Given the description of an element on the screen output the (x, y) to click on. 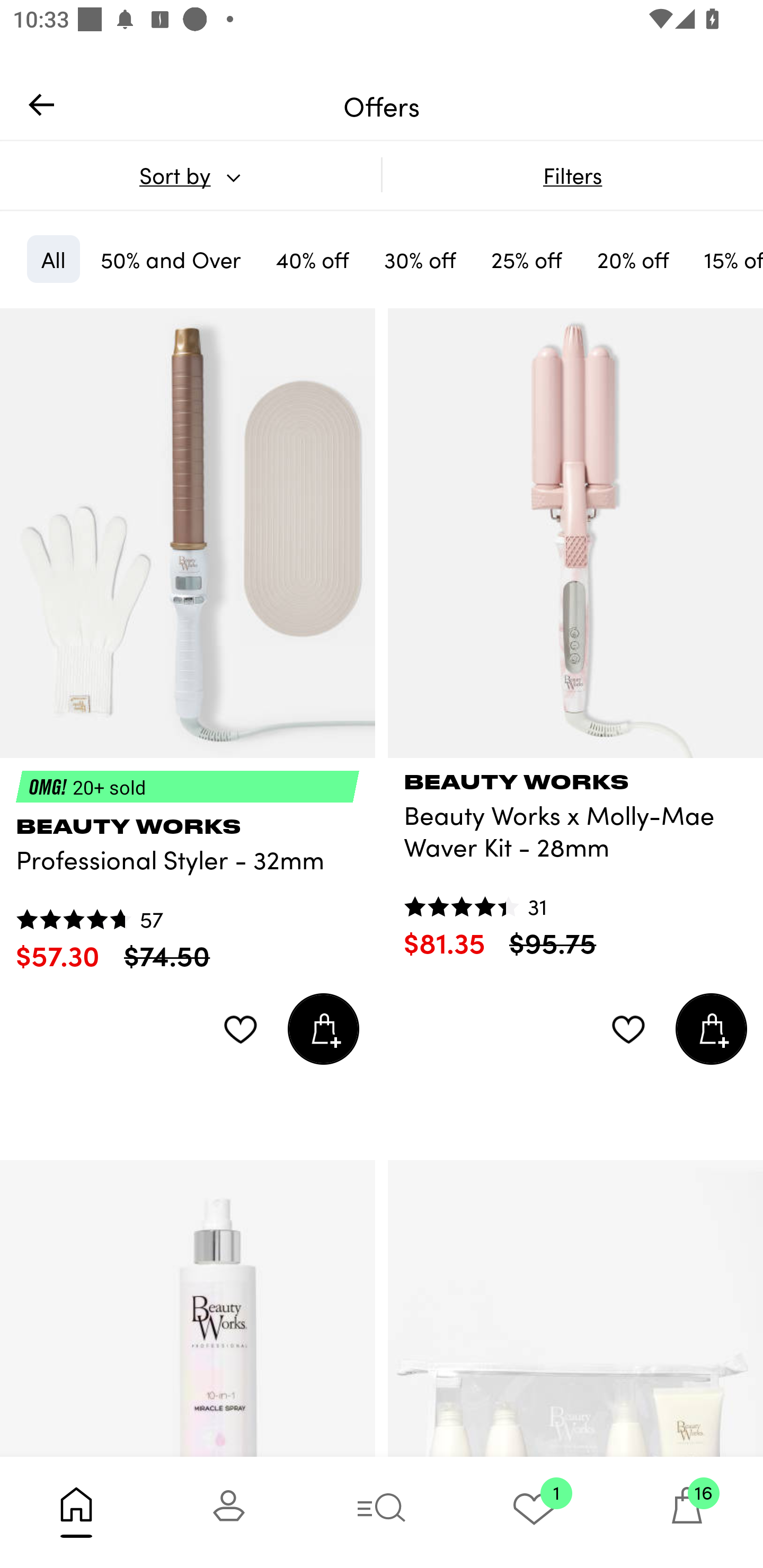
Sort by (190, 174)
Filters (572, 174)
All (53, 258)
50% and Over (170, 258)
40% off (312, 258)
30% off (420, 258)
25% off (526, 258)
20% off (632, 258)
1 (533, 1512)
16 (686, 1512)
